Given the description of an element on the screen output the (x, y) to click on. 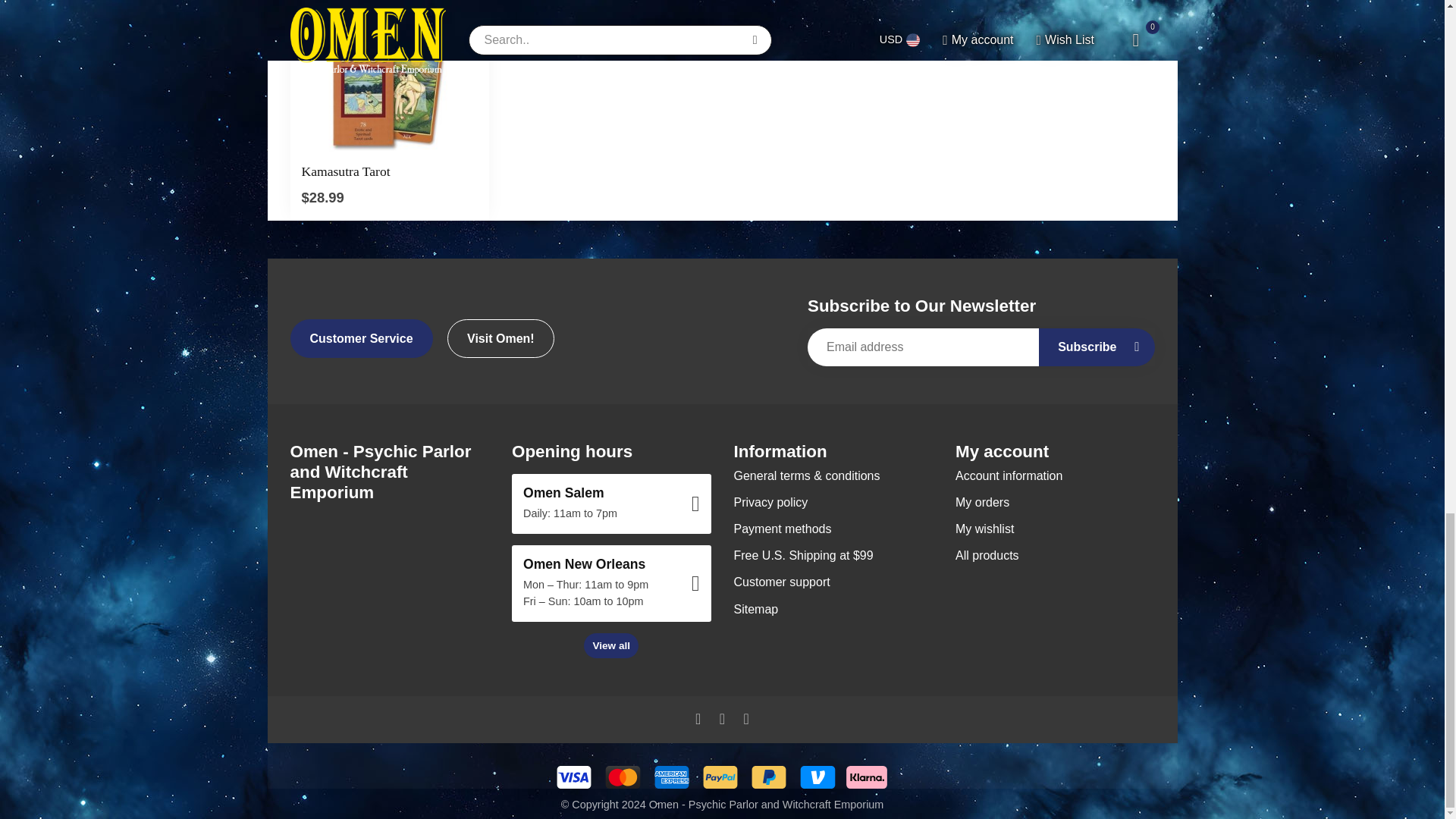
Payment methods (833, 528)
Privacy policy (833, 501)
Customer support (833, 581)
Account information (1054, 475)
Llewellyn Publications Kamasutra Tarot (389, 76)
Llewellyn Publications Kamasutra Tarot (390, 171)
Sitemap (833, 609)
